Given the description of an element on the screen output the (x, y) to click on. 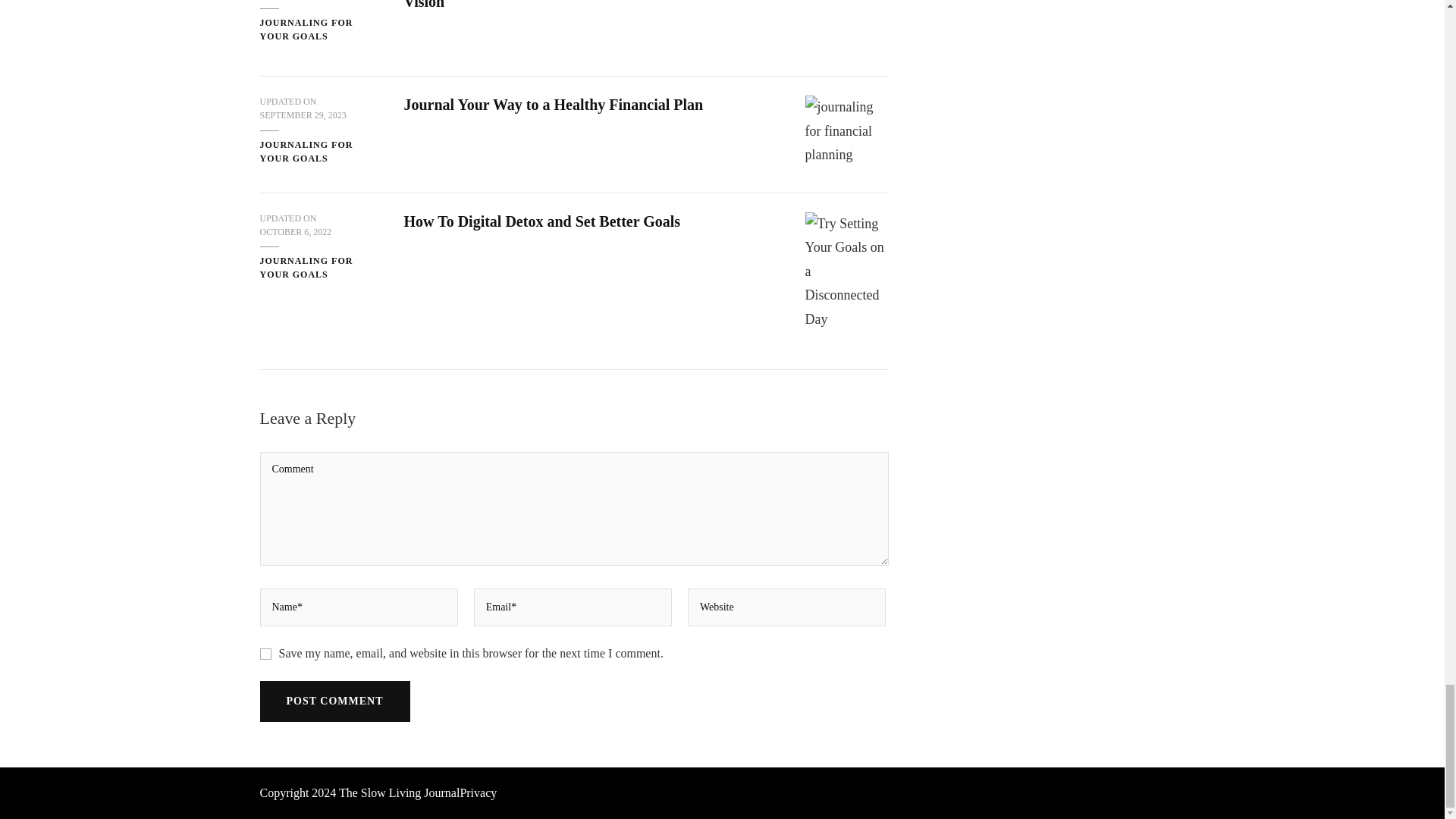
Post Comment (334, 700)
